Given the description of an element on the screen output the (x, y) to click on. 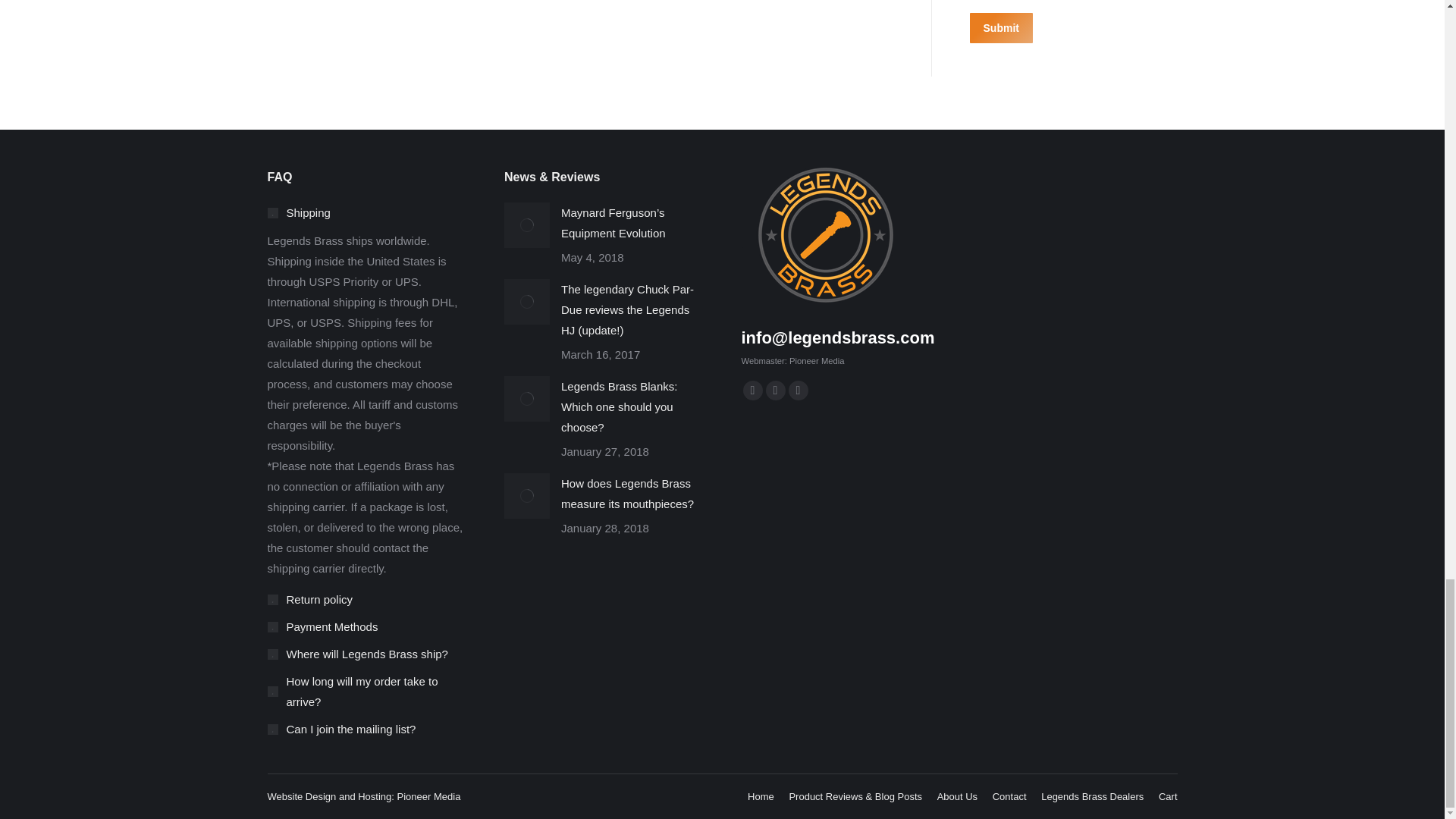
submit (1073, 29)
